Given the description of an element on the screen output the (x, y) to click on. 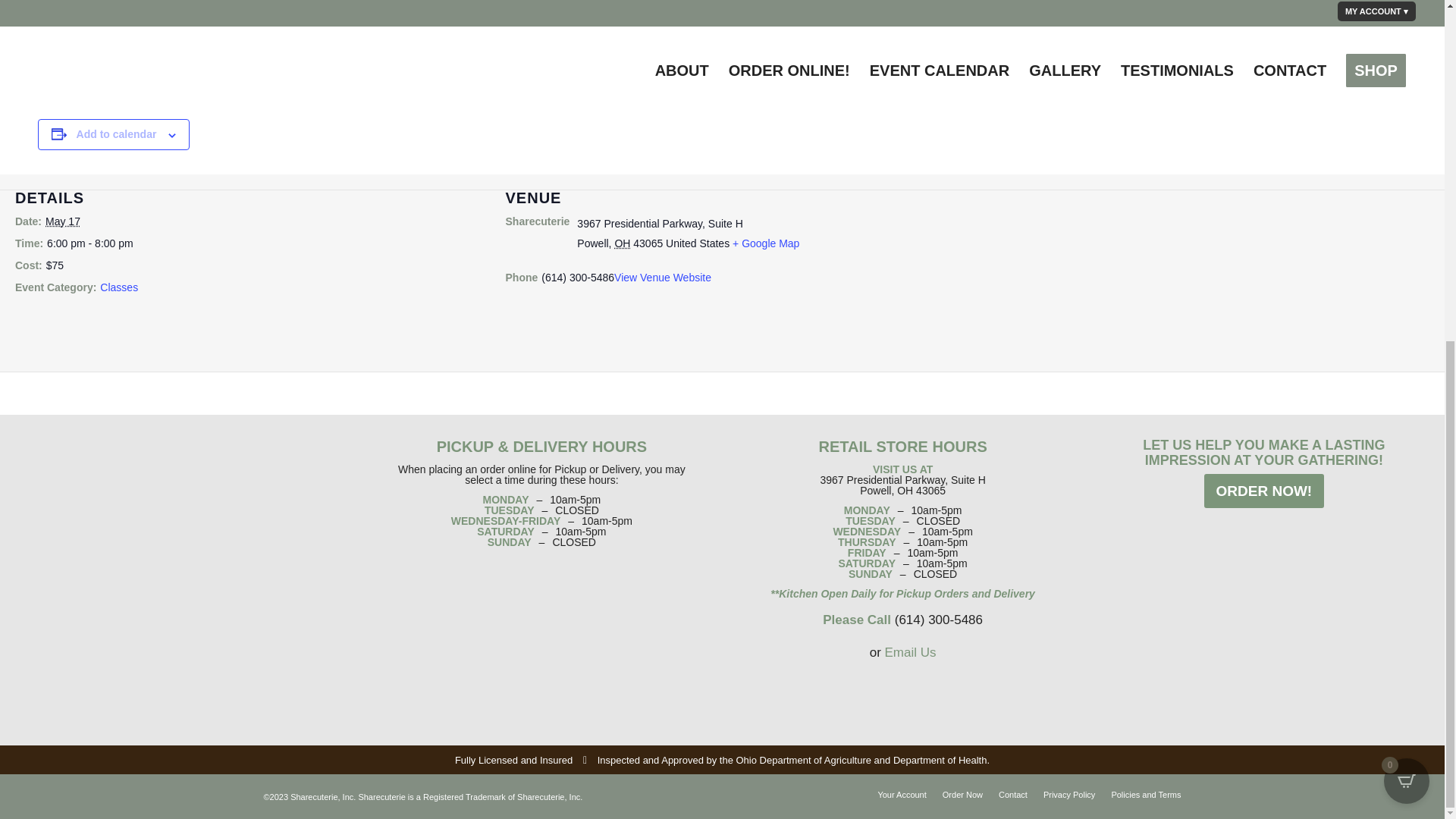
Google maps iframe displaying the address to Sharecuterie (1212, 269)
2024-05-17 (89, 243)
Click to view a Google Map (765, 243)
2024-05-17 (62, 221)
Ohio (622, 243)
